Given the description of an element on the screen output the (x, y) to click on. 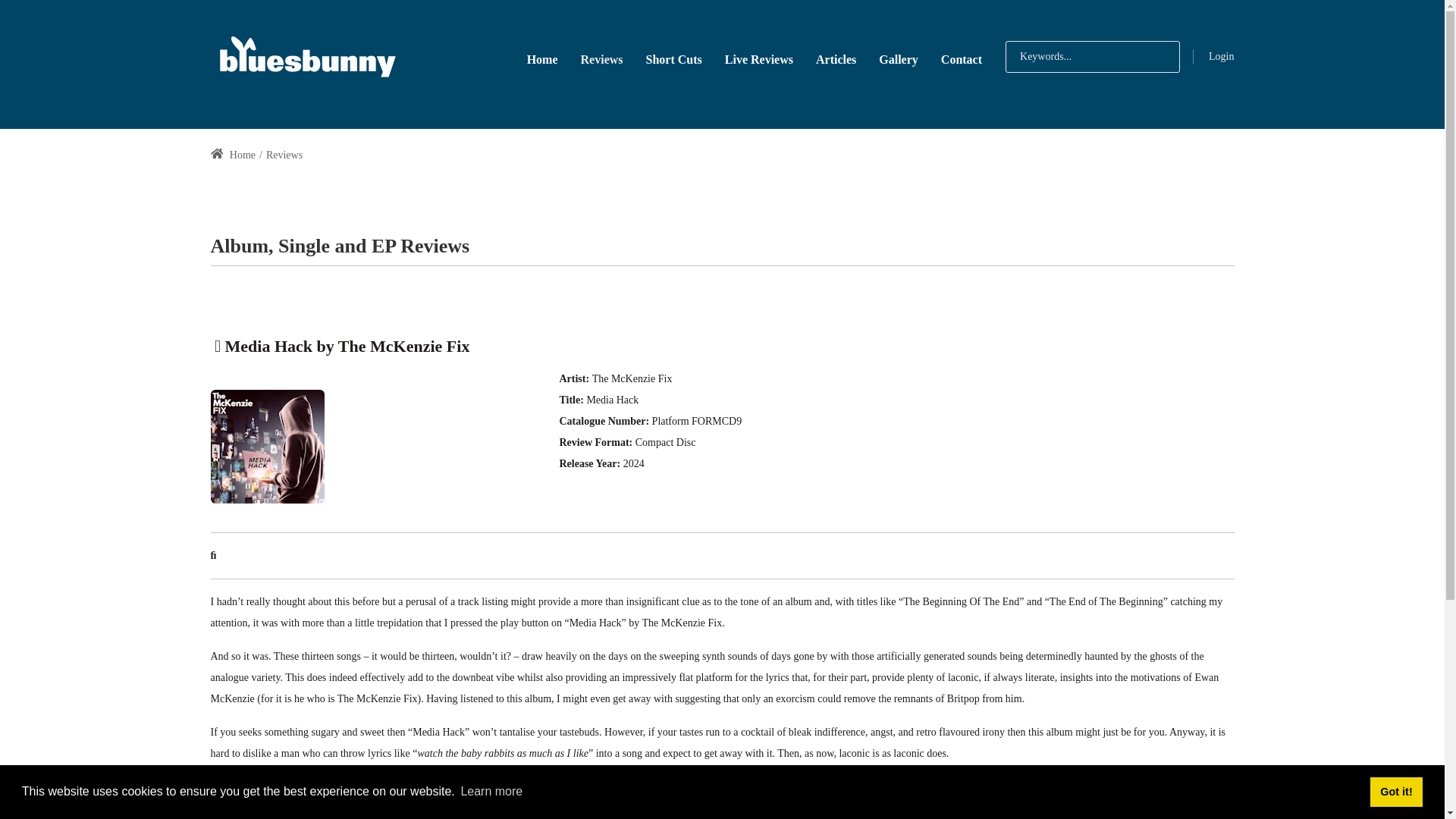
Gallery (898, 56)
Articles (836, 56)
Learn more (491, 791)
Home (542, 56)
Reviews (601, 56)
Bluesbunny Independent Music Reviews (305, 56)
Live Reviews (759, 56)
Short Cuts (673, 56)
Login (1220, 56)
Contact (961, 56)
